Given the description of an element on the screen output the (x, y) to click on. 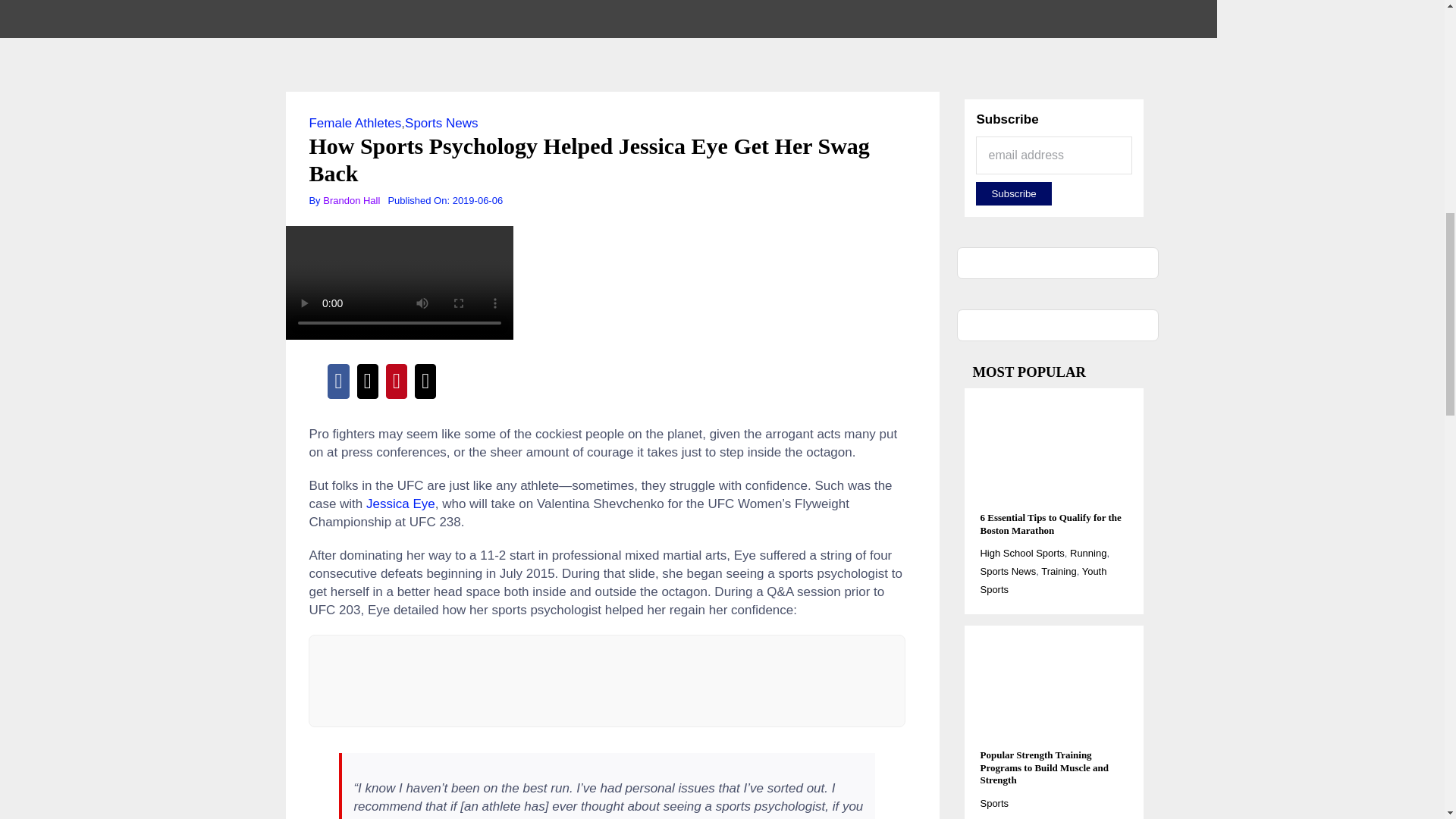
Posts by Brandon Hall (351, 200)
Female Athletes (354, 123)
Subscribe (1013, 193)
Sports News (440, 123)
